Given the description of an element on the screen output the (x, y) to click on. 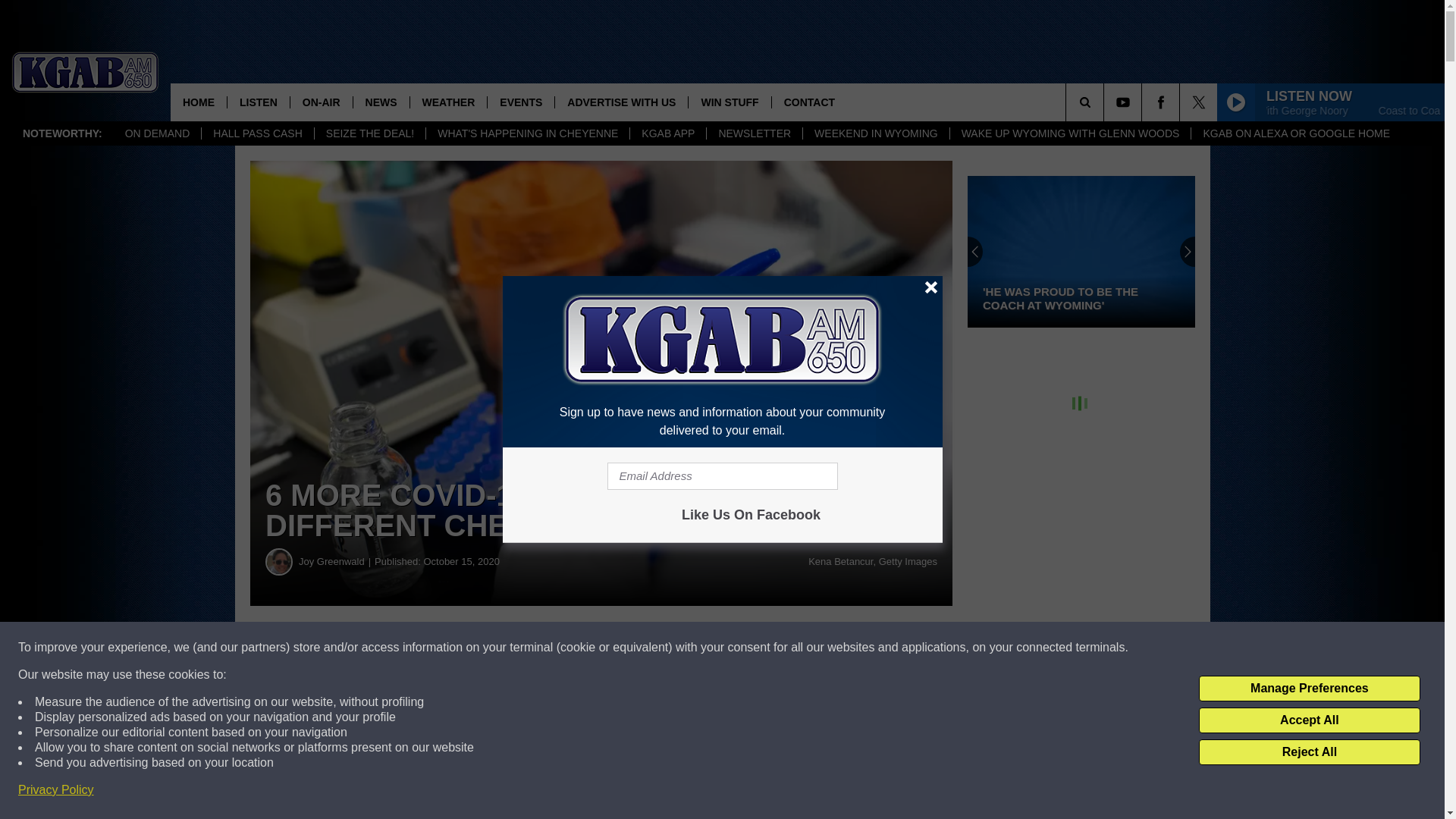
LISTEN (258, 102)
Share on Twitter (741, 647)
SEARCH (1106, 102)
ON DEMAND (157, 133)
Manage Preferences (1309, 688)
WHAT'S HAPPENING IN CHEYENNE (526, 133)
SEIZE THE DEAL! (369, 133)
ON-AIR (320, 102)
KGAB APP (667, 133)
KGAB ON ALEXA OR GOOGLE HOME (1295, 133)
Accept All (1309, 720)
Privacy Policy (55, 789)
WAKE UP WYOMING WITH GLENN WOODS (1070, 133)
Email Address (722, 475)
NOTEWORTHY: (62, 133)
